Given the description of an element on the screen output the (x, y) to click on. 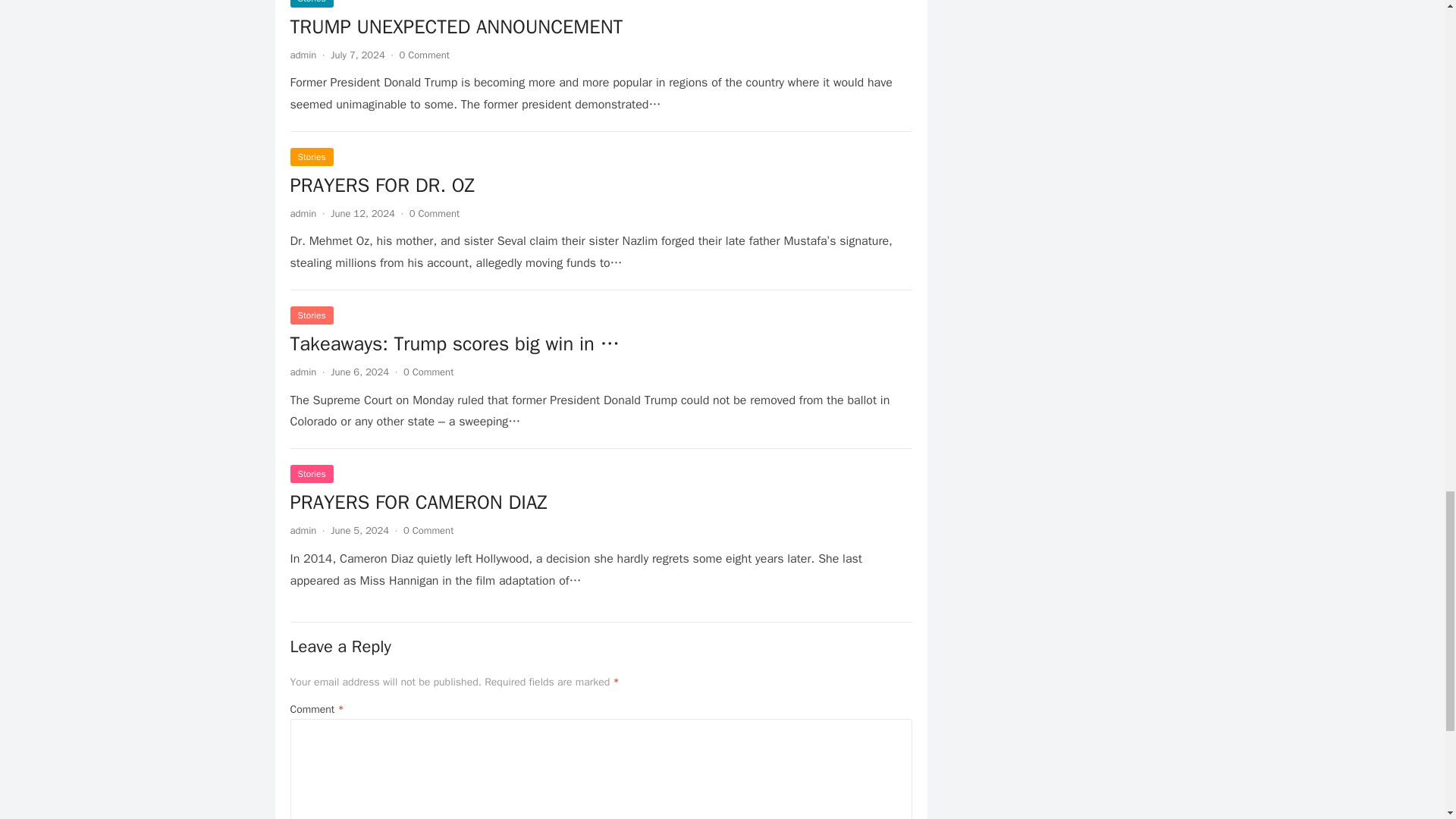
Stories (311, 3)
admin (302, 54)
Posts by admin (302, 213)
TRUMP UNEXPECTED ANNOUNCEMENT (456, 26)
Posts by admin (302, 530)
Posts by admin (302, 371)
Posts by admin (302, 54)
0 Comment (423, 54)
